Given the description of an element on the screen output the (x, y) to click on. 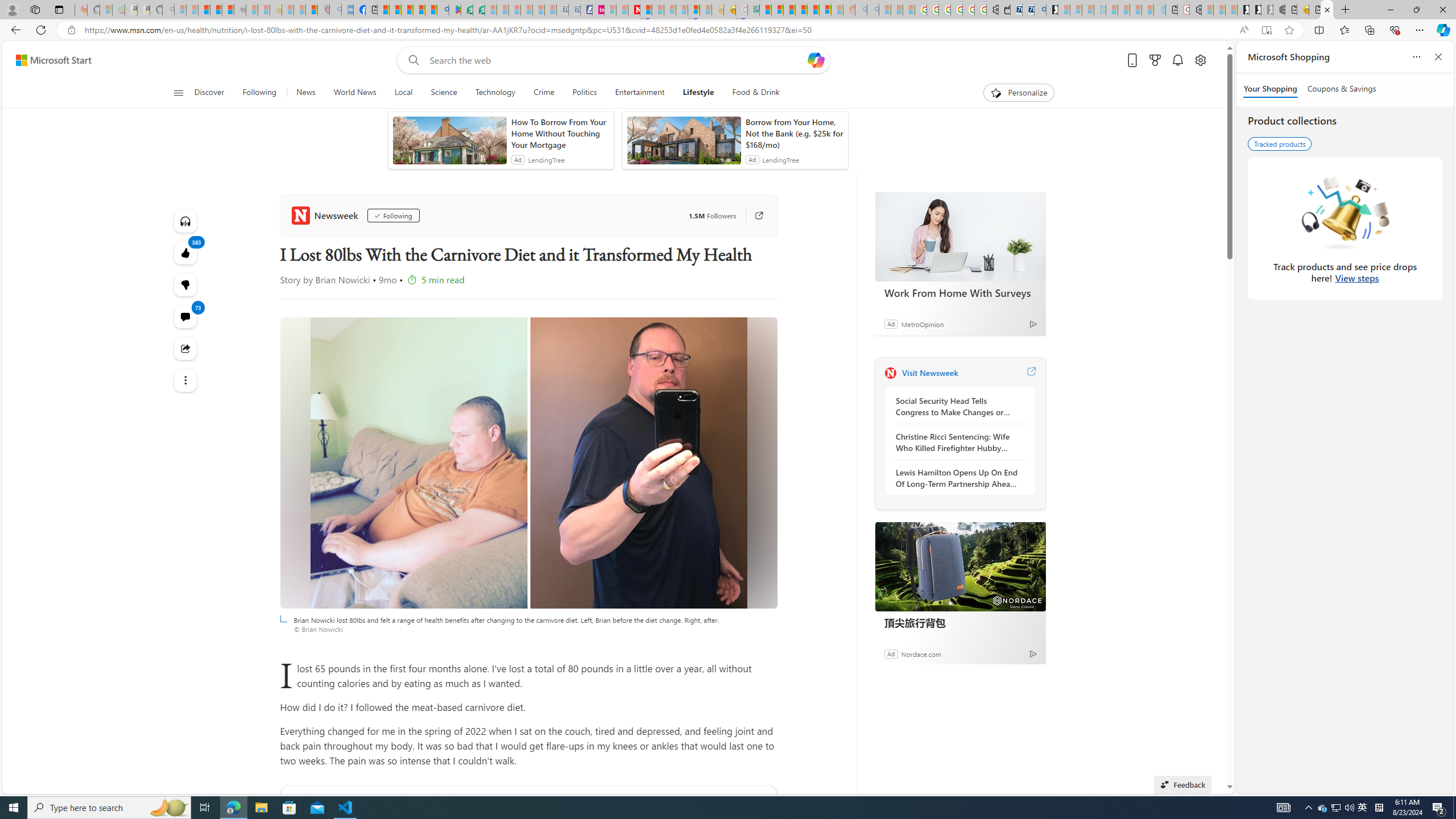
Tab actions menu (58, 9)
Crime (543, 92)
Favorites (1344, 29)
World News (355, 92)
MetroOpinion (922, 323)
Food & Drink (751, 92)
Newsweek (889, 372)
Dislike (184, 284)
Microsoft rewards (1154, 60)
